Given the description of an element on the screen output the (x, y) to click on. 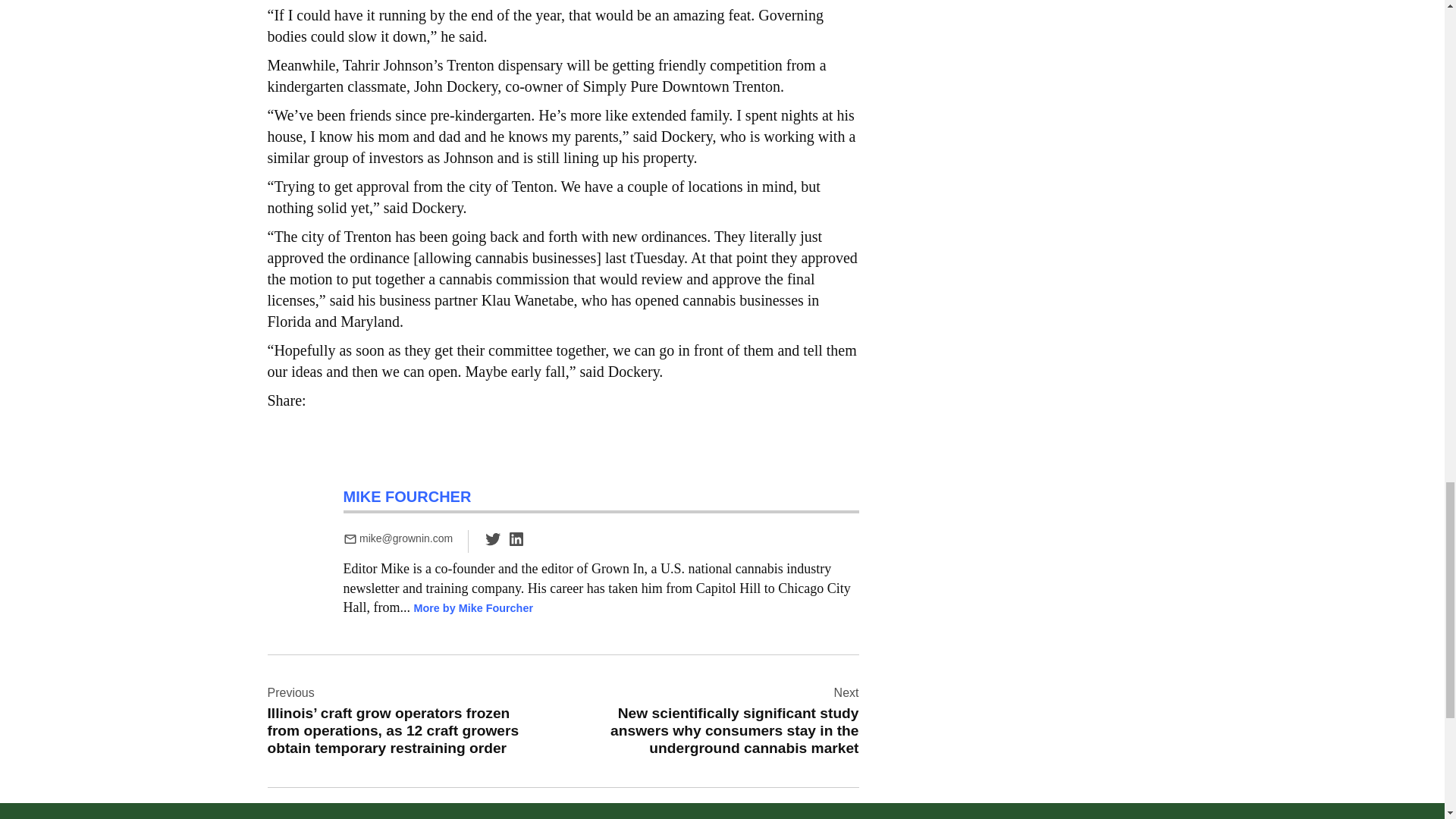
linkedin (515, 538)
twitter (492, 544)
More by Mike Fourcher (472, 607)
linkedin (515, 544)
twitter (492, 538)
